Given the description of an element on the screen output the (x, y) to click on. 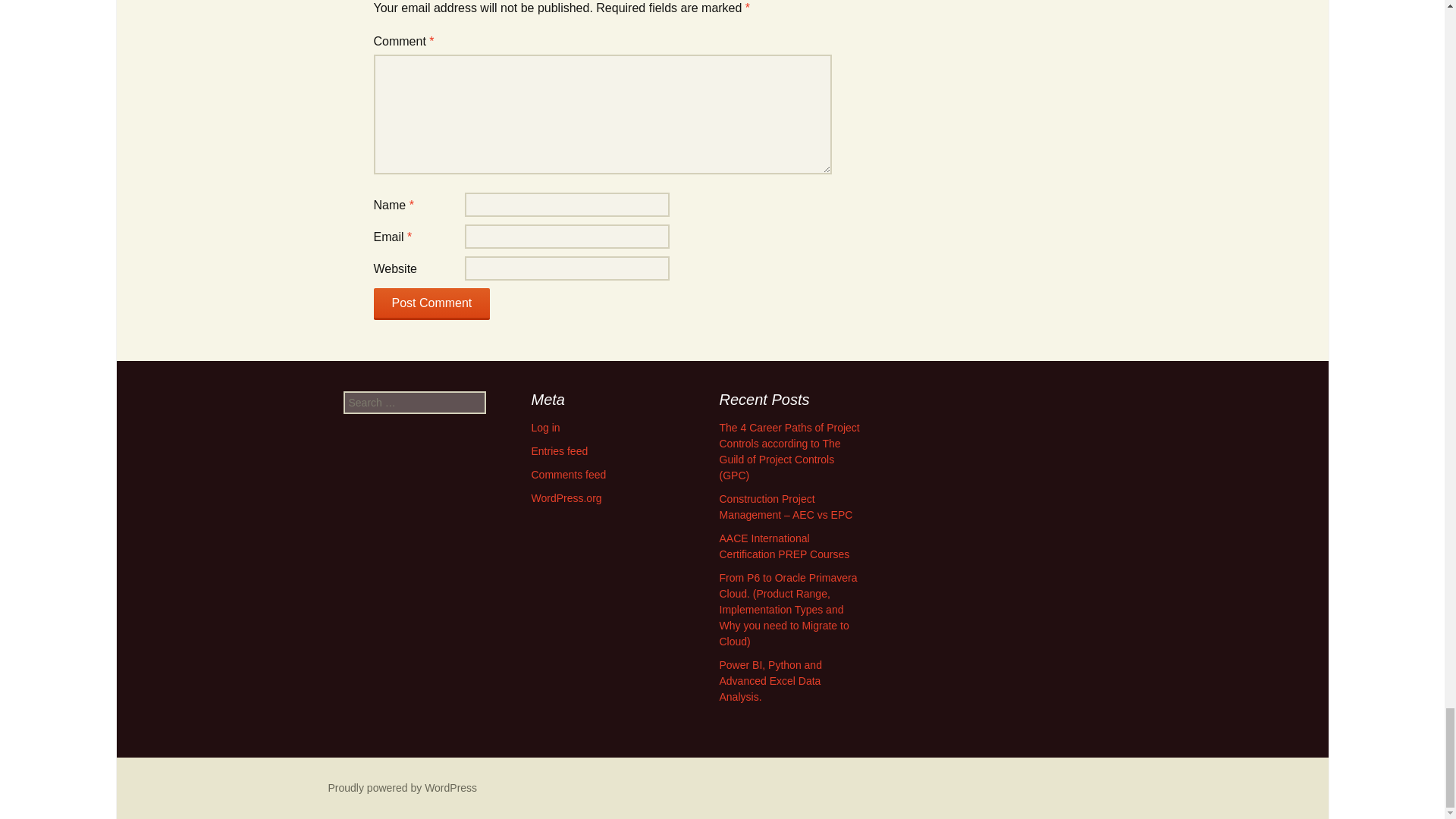
Post Comment (430, 304)
Post Comment (430, 304)
